Given the description of an element on the screen output the (x, y) to click on. 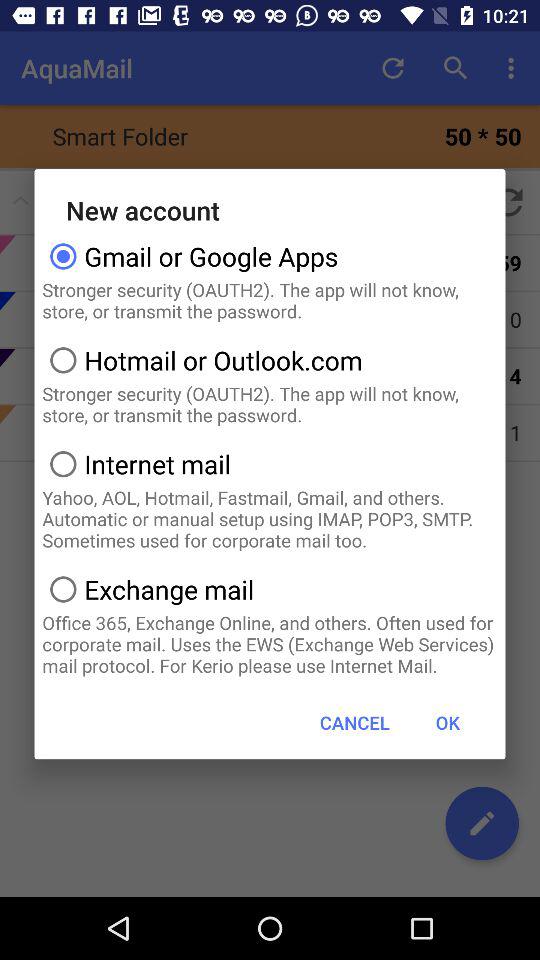
jump until the cancel (354, 722)
